Given the description of an element on the screen output the (x, y) to click on. 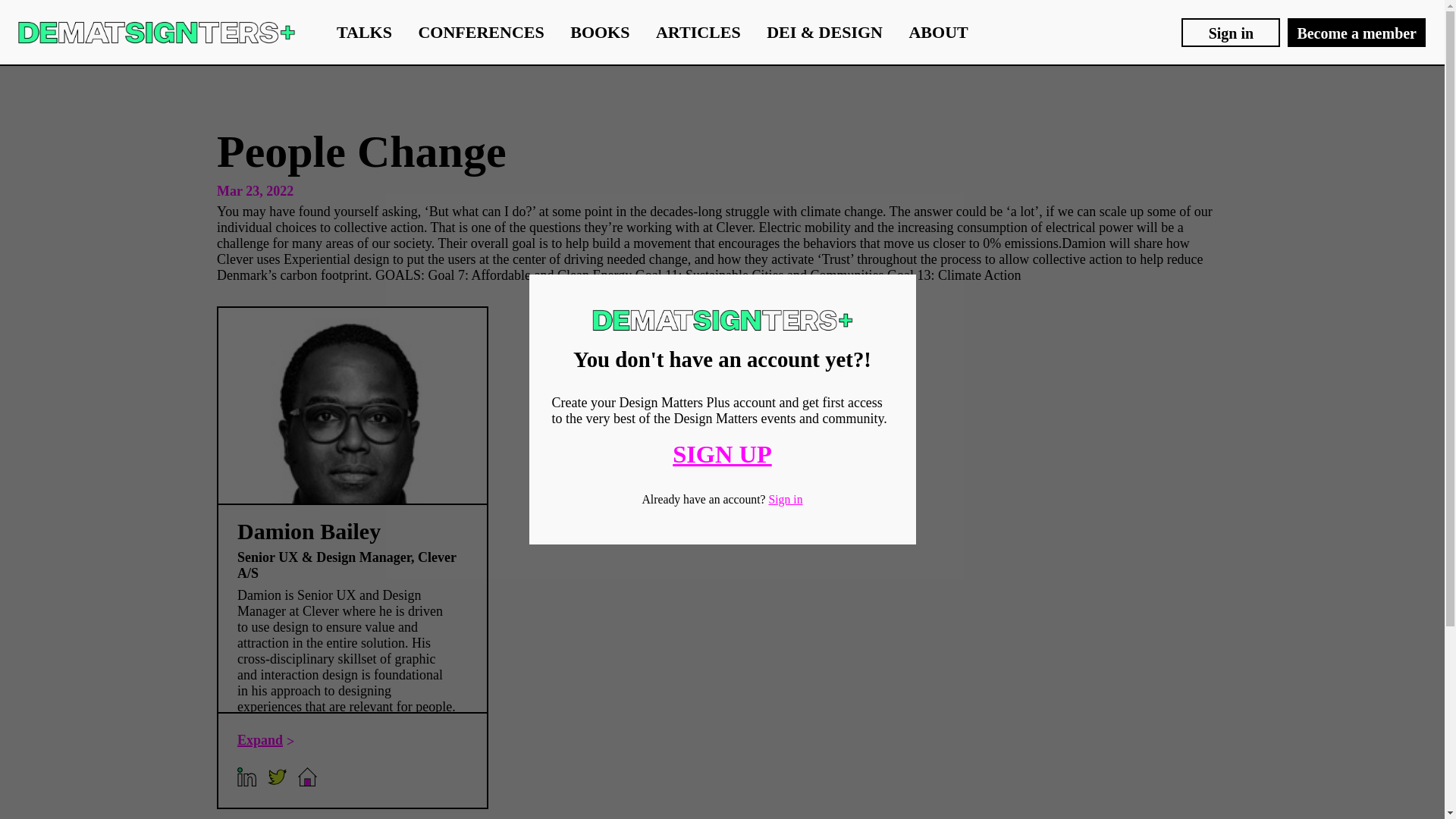
ABOUT (938, 31)
TALKS (363, 31)
BOOKS (599, 31)
SIGN UP (721, 453)
Sign in (785, 499)
CONFERENCES (480, 31)
ARTICLES (698, 31)
Become a member (1356, 32)
Expand (265, 739)
Sign in (1229, 32)
